Given the description of an element on the screen output the (x, y) to click on. 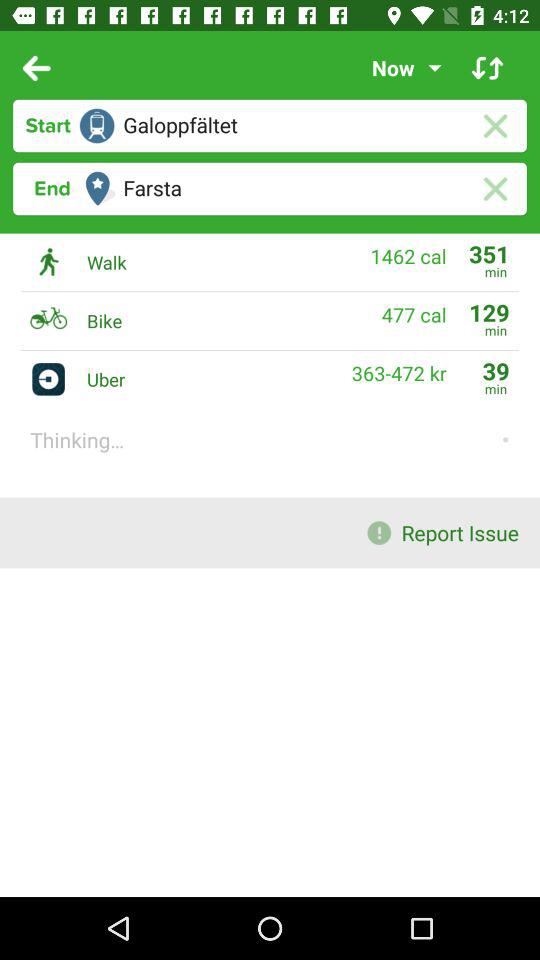
update the information (487, 68)
